Given the description of an element on the screen output the (x, y) to click on. 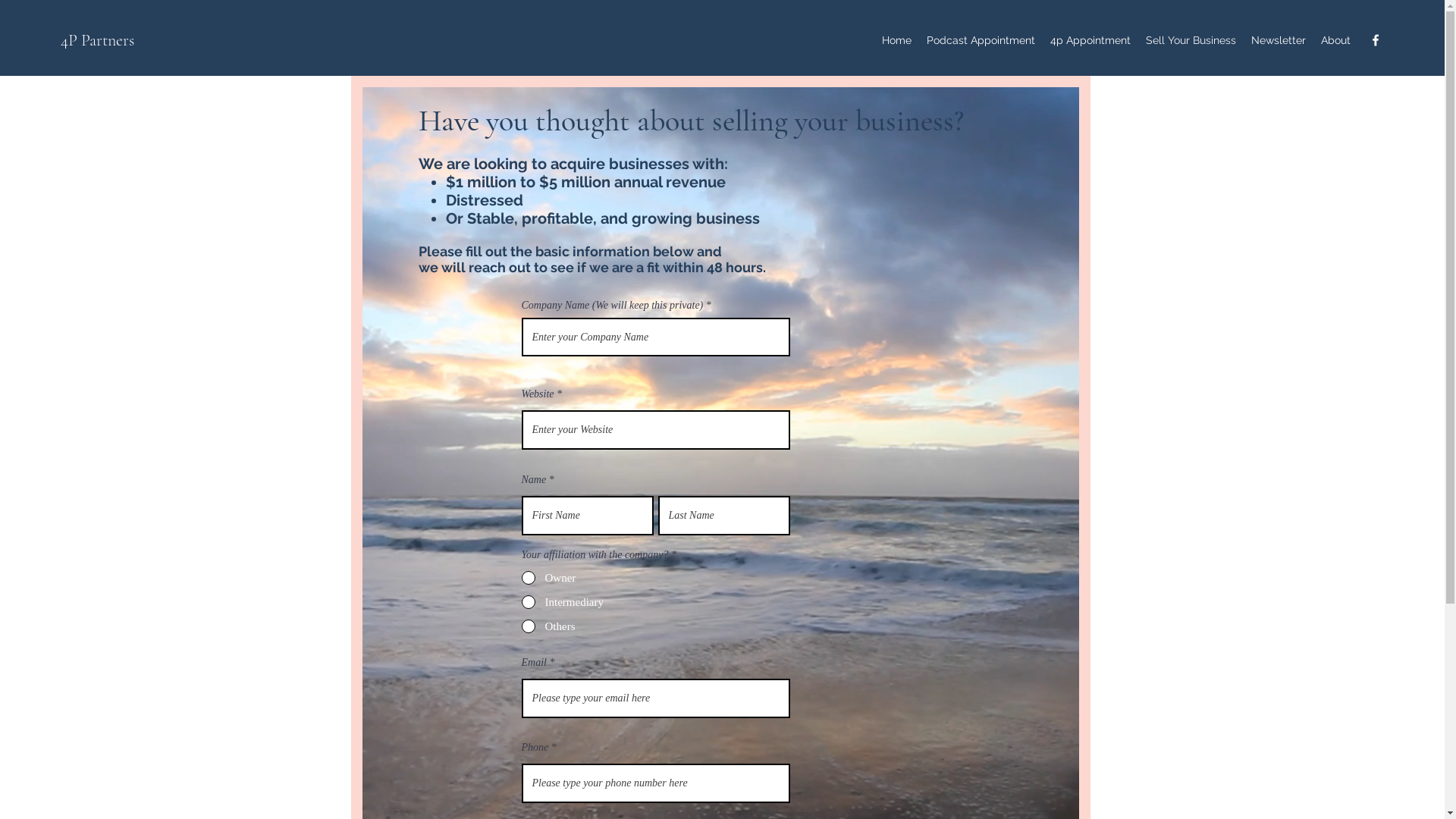
Newsletter Element type: text (1278, 39)
About Element type: text (1335, 39)
4p Appointment Element type: text (1090, 39)
4P Partners Element type: text (97, 40)
Sell Your Business Element type: text (1190, 39)
Home Element type: text (896, 39)
Podcast Appointment Element type: text (980, 39)
